Given the description of an element on the screen output the (x, y) to click on. 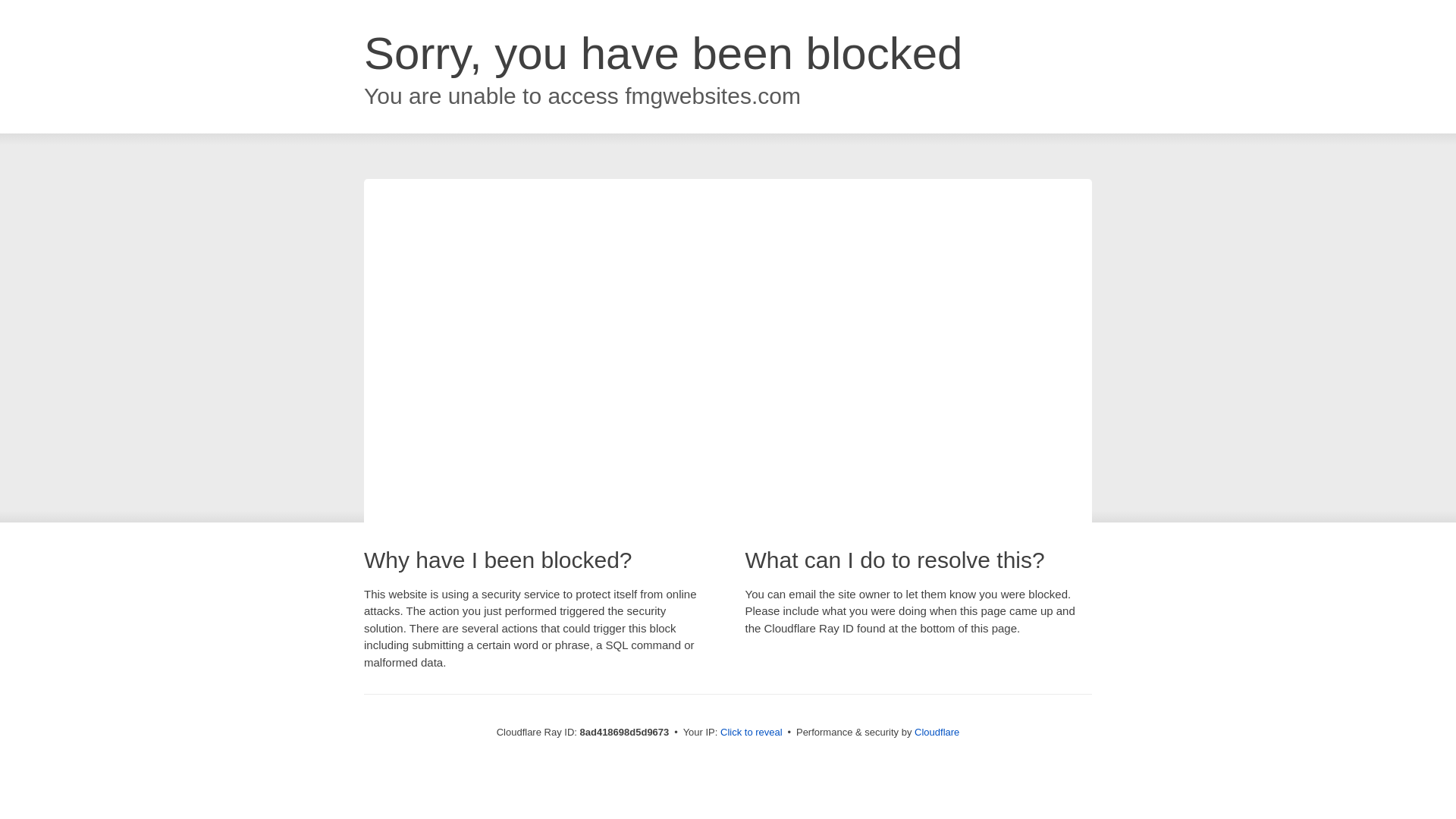
Click to reveal (751, 732)
Cloudflare (936, 731)
